Given the description of an element on the screen output the (x, y) to click on. 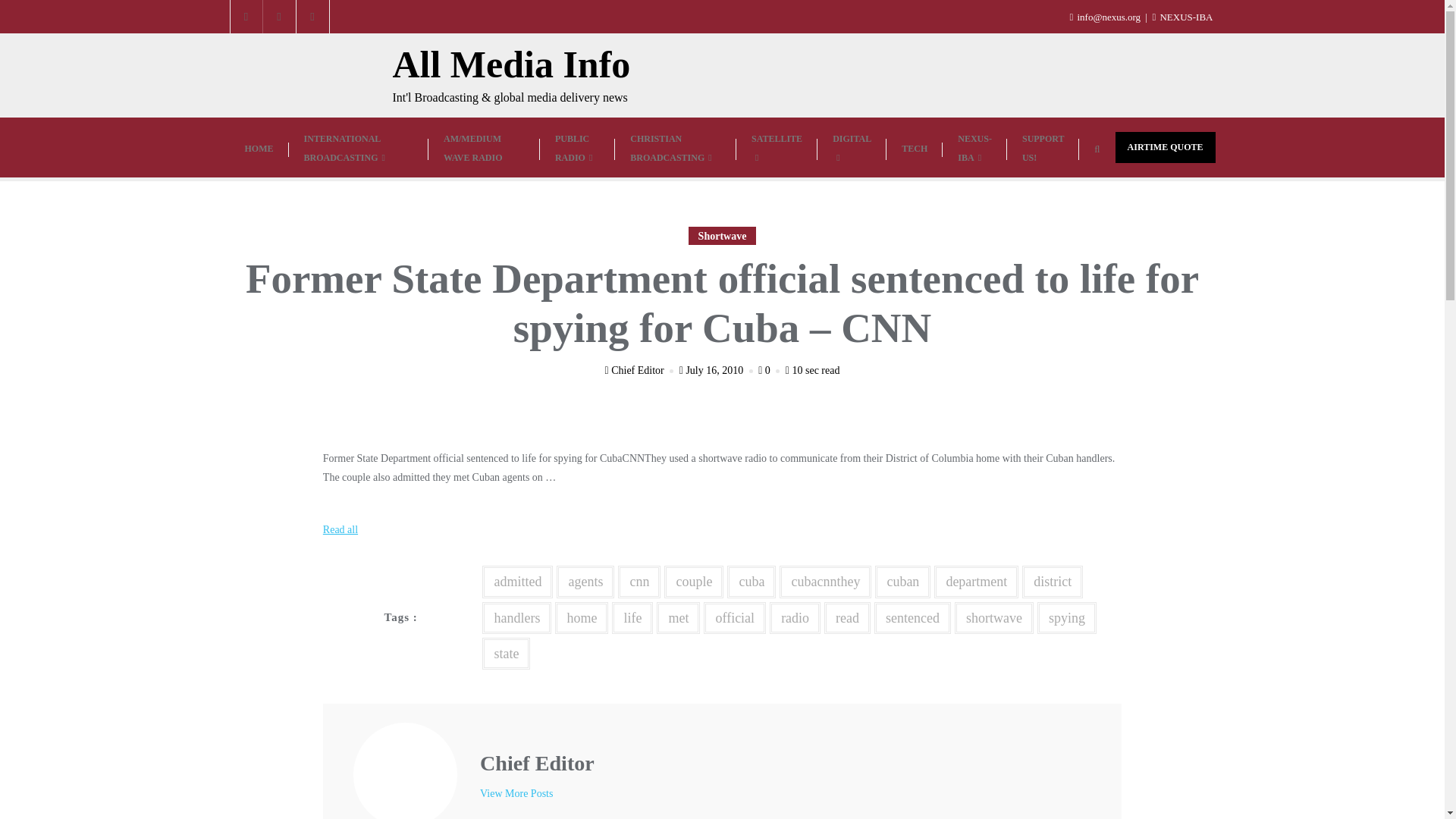
CHRISTIAN BROADCASTING (675, 147)
PUBLIC RADIO (577, 147)
INTERNATIONAL BROADCASTING (358, 147)
NEXUS-IBA (974, 147)
DIGITAL (851, 147)
HOME (258, 147)
AIRTIME QUOTE (1165, 146)
TECH (914, 147)
SUPPORT US! (1042, 147)
SATELLITE (776, 147)
